Given the description of an element on the screen output the (x, y) to click on. 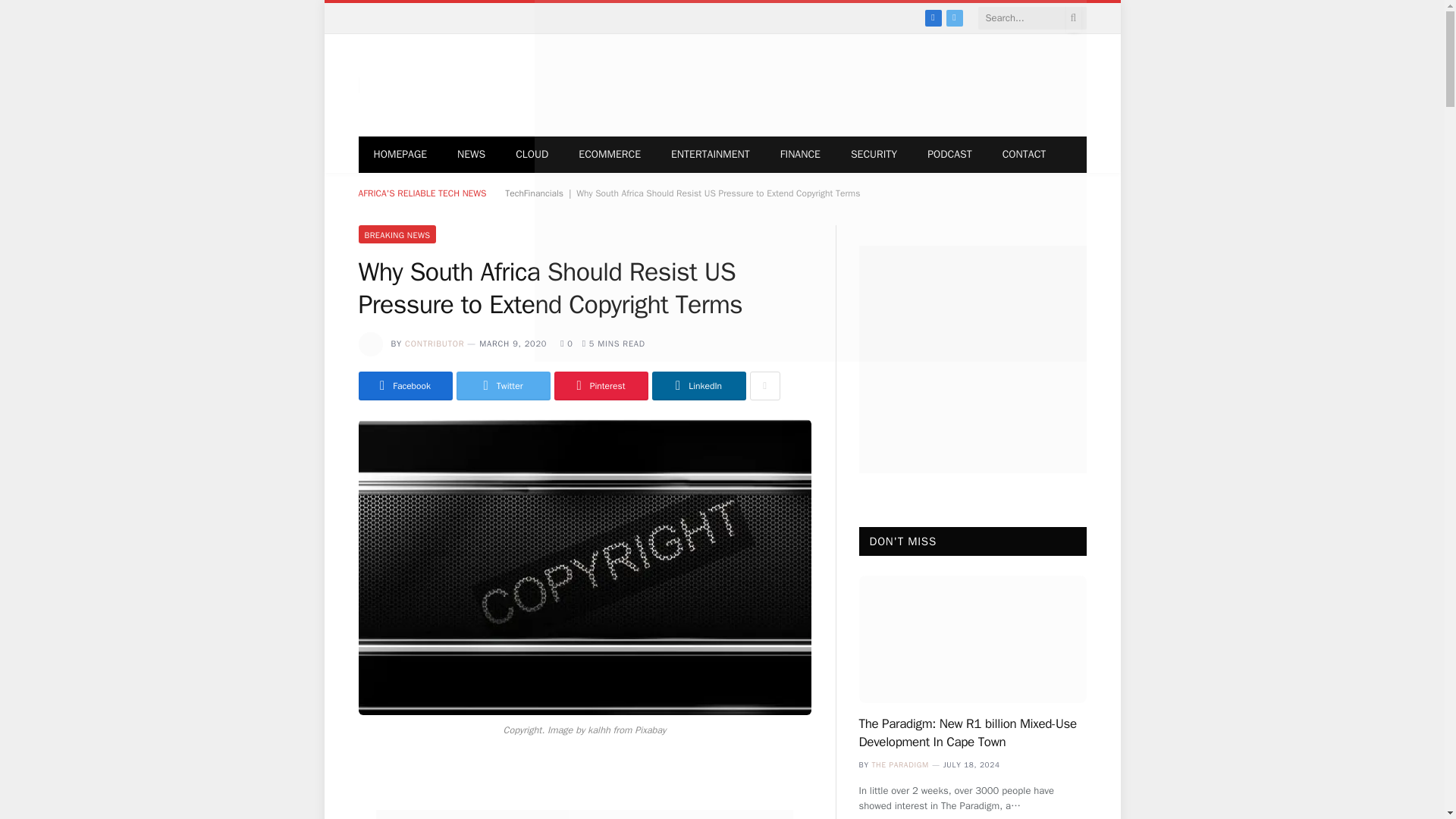
BREAKING NEWS (396, 234)
Posts by Contributor (434, 343)
SECURITY (873, 154)
ENTERTAINMENT (710, 154)
PODCAST (949, 154)
TechFinancials (534, 193)
CONTACT (1024, 154)
Share on Facebook (404, 385)
ECOMMERCE (609, 154)
HOMEPAGE (400, 154)
Share on LinkedIn (698, 385)
Share on Pinterest (600, 385)
FINANCE (800, 154)
Facebook (933, 17)
CLOUD (531, 154)
